Given the description of an element on the screen output the (x, y) to click on. 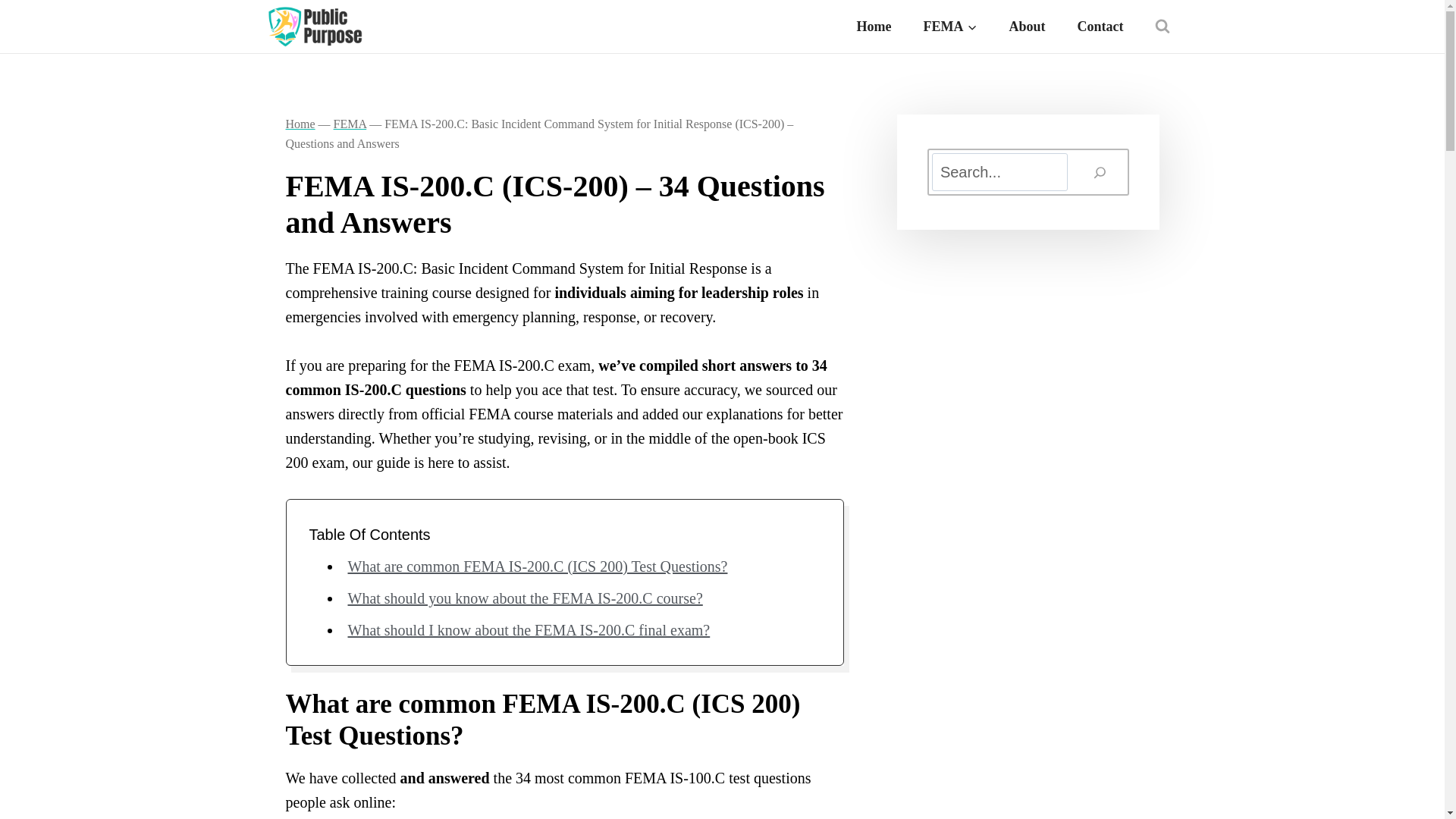
What should you know about the FEMA IS-200.C course? (524, 597)
FEMA (349, 123)
Home (873, 26)
FEMA (949, 26)
What should I know about the FEMA IS-200.C final exam? (528, 629)
Contact (1100, 26)
Home (299, 123)
About (1026, 26)
